Given the description of an element on the screen output the (x, y) to click on. 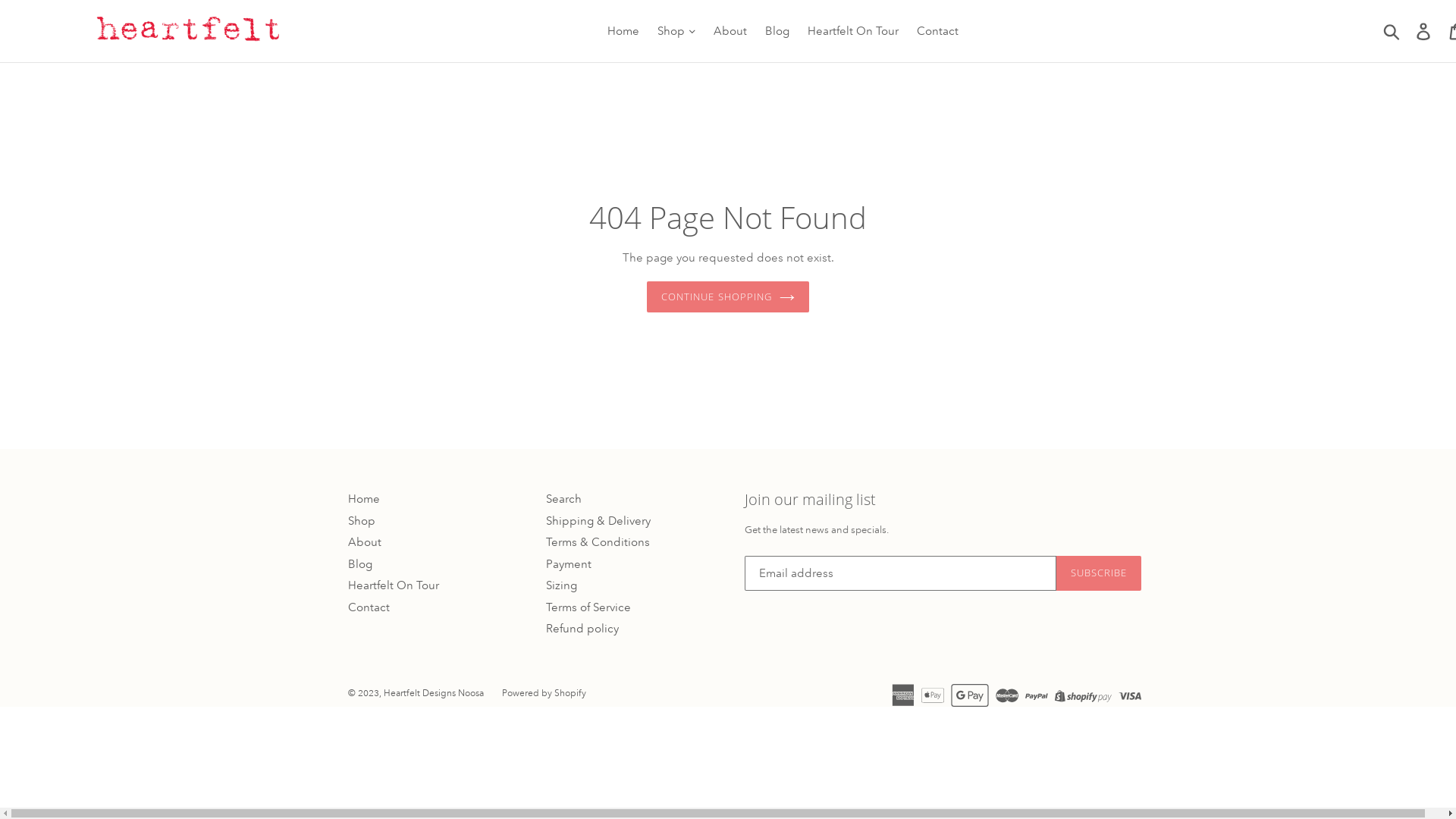
About Element type: text (364, 541)
About Element type: text (730, 31)
CONTINUE SHOPPING Element type: text (727, 297)
Heartfelt Designs Noosa Element type: text (433, 692)
Heartfelt On Tour Element type: text (393, 584)
Home Element type: text (363, 498)
Refund policy Element type: text (582, 628)
Search Element type: text (563, 498)
Contact Element type: text (368, 606)
Blog Element type: text (777, 31)
Home Element type: text (622, 31)
Contact Element type: text (937, 31)
Shop Element type: text (361, 520)
Heartfelt On Tour Element type: text (853, 31)
Shipping & Delivery Element type: text (598, 520)
Payment Element type: text (568, 563)
Log in Element type: text (1424, 30)
Terms of Service Element type: text (588, 606)
Terms & Conditions Element type: text (597, 541)
Blog Element type: text (360, 563)
Sizing Element type: text (561, 584)
Powered by Shopify Element type: text (544, 692)
SUBSCRIBE Element type: text (1098, 572)
Submit Element type: text (1392, 30)
